Given the description of an element on the screen output the (x, y) to click on. 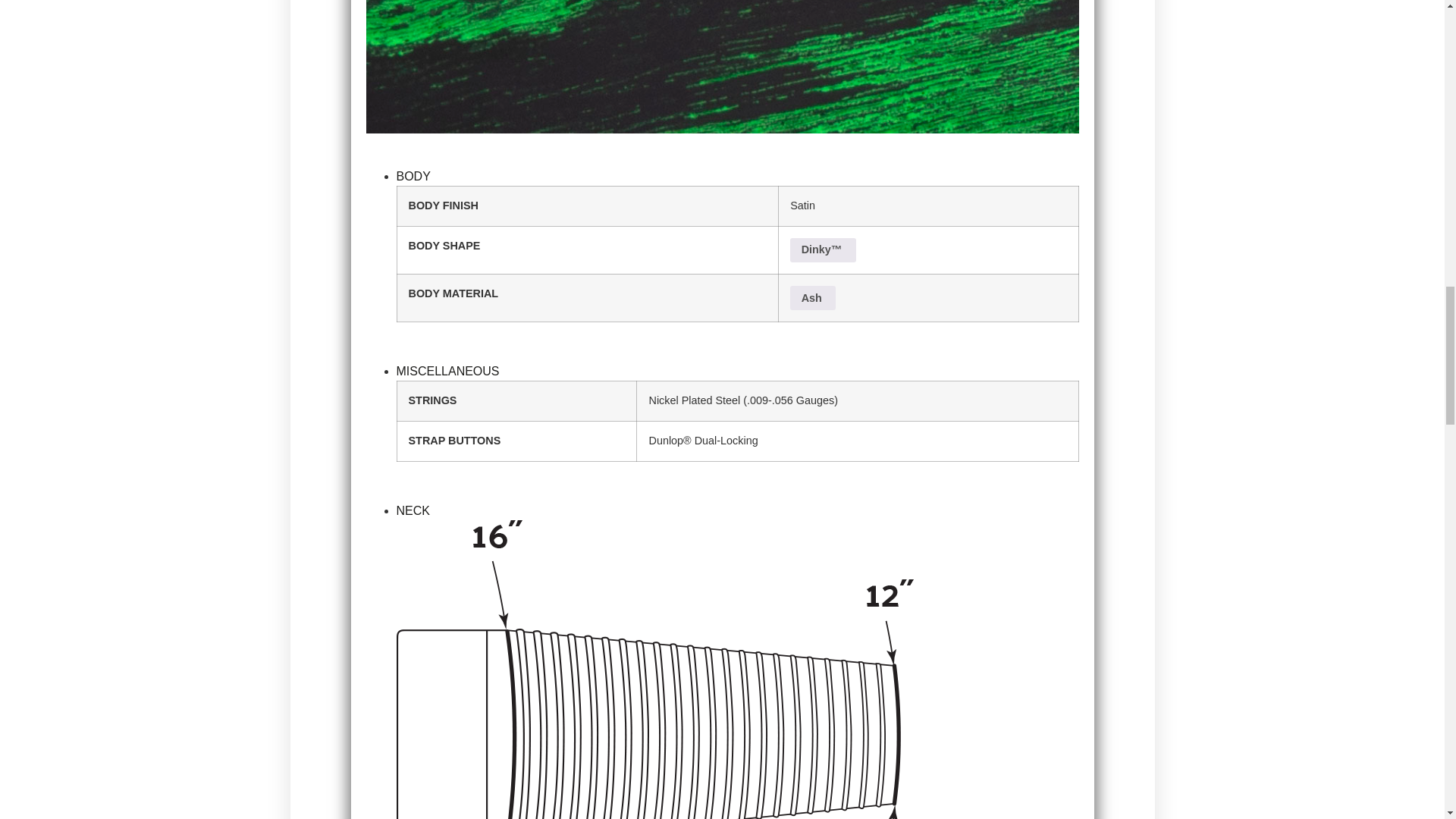
NECK (412, 510)
Ash  (812, 297)
MISCELLANEOUS (447, 370)
Search for other products with this spec (812, 297)
BODY (412, 175)
Search for other products with this spec (823, 250)
